Given the description of an element on the screen output the (x, y) to click on. 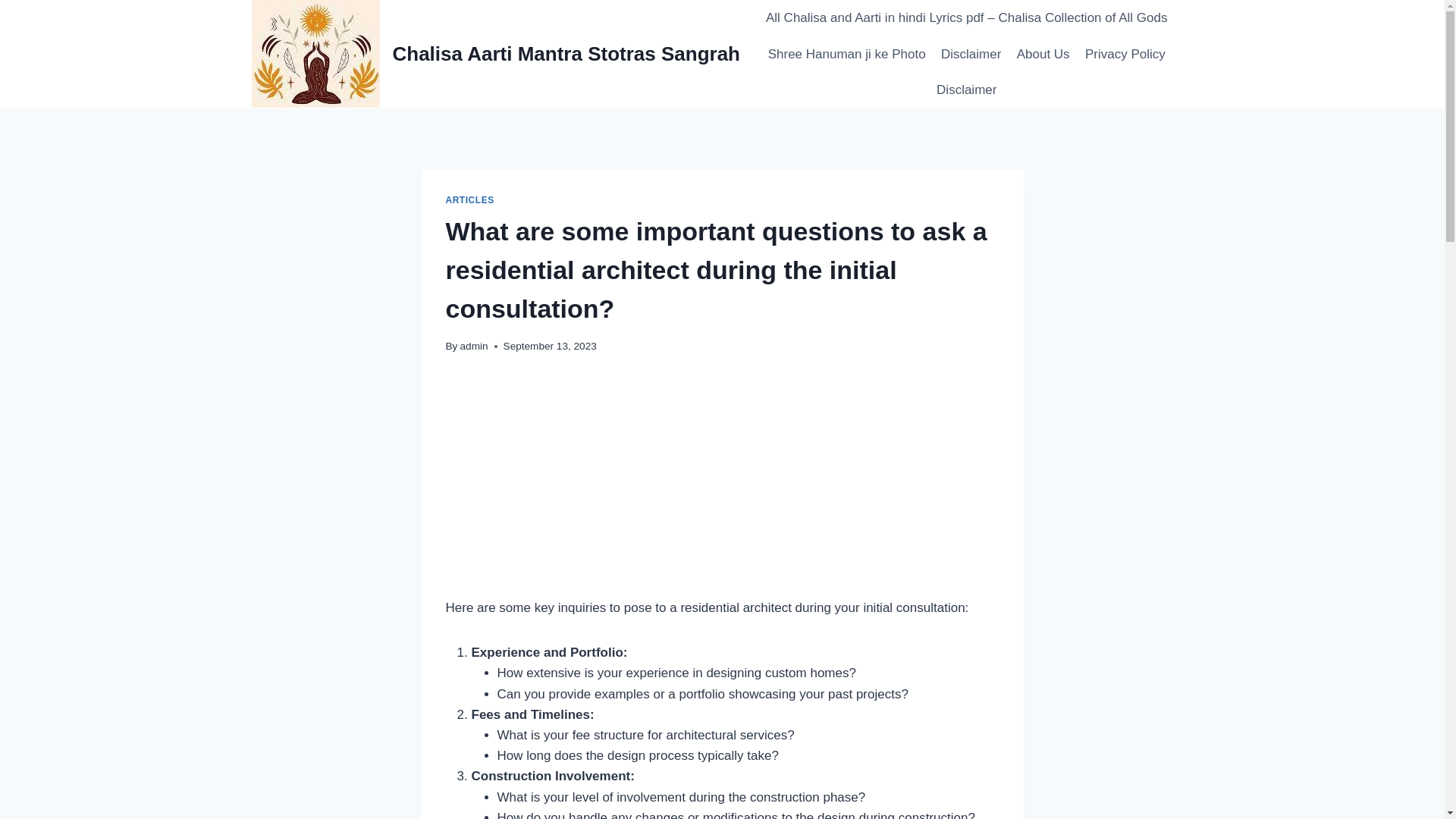
admin (473, 346)
About Us (1043, 54)
Advertisement (721, 485)
Shree Hanuman ji ke Photo (846, 54)
ARTICLES (470, 199)
Chalisa Aarti Mantra Stotras Sangrah (496, 53)
Disclaimer (971, 54)
Privacy Policy (1125, 54)
Disclaimer (966, 90)
